Given the description of an element on the screen output the (x, y) to click on. 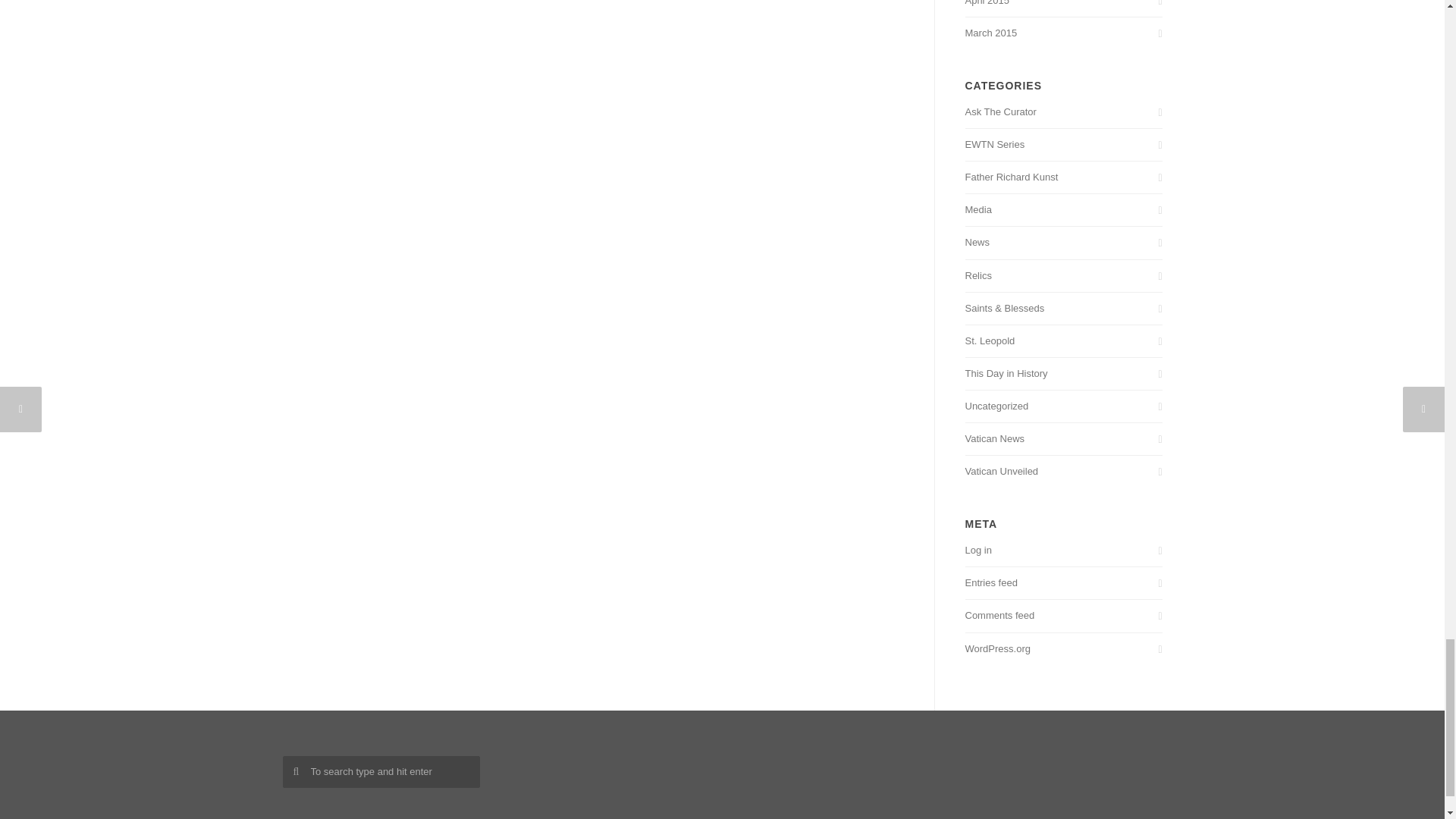
To search type and hit enter (380, 771)
